Given the description of an element on the screen output the (x, y) to click on. 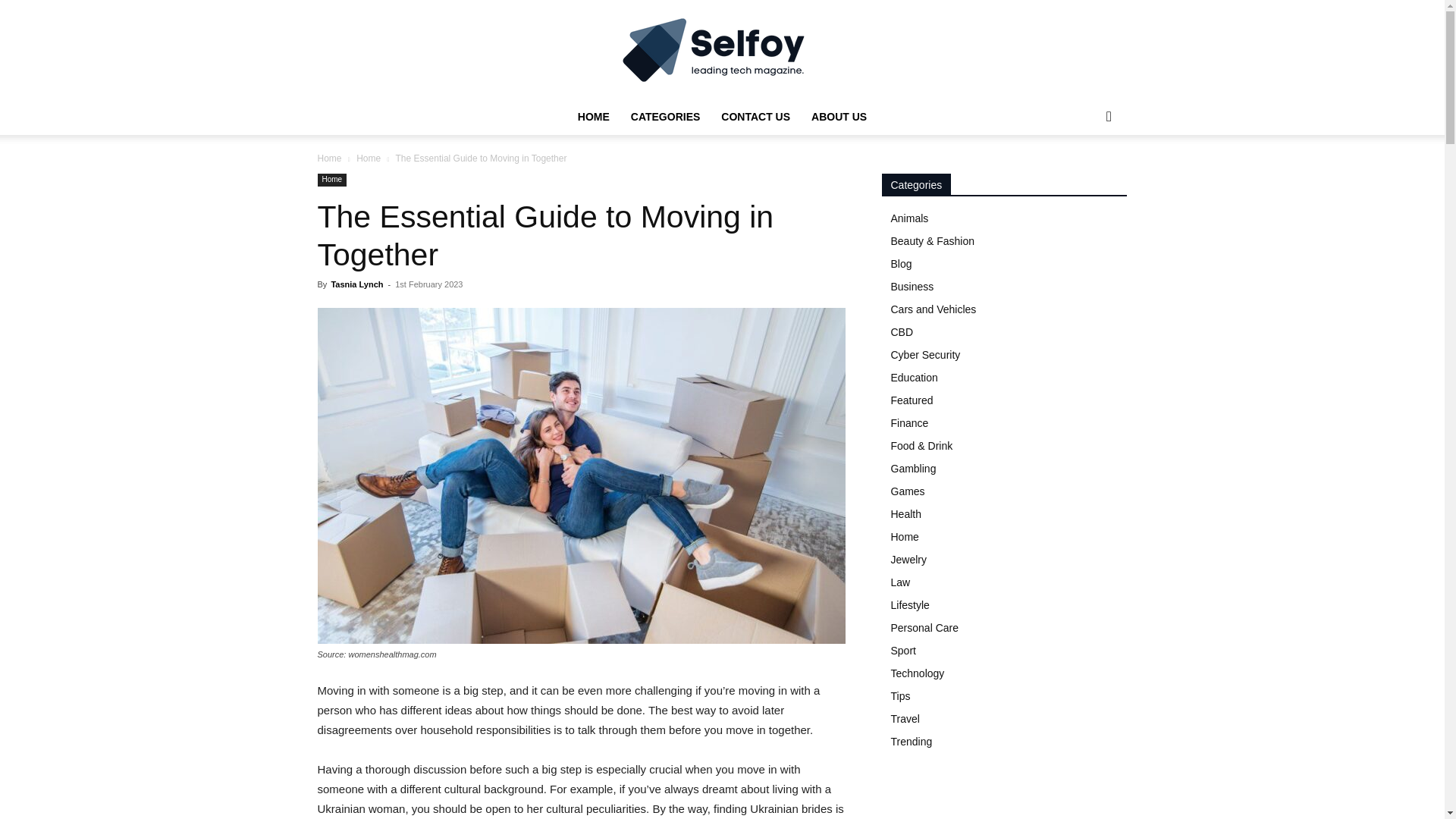
Home (328, 158)
CONTACT US (755, 116)
CATEGORIES (665, 116)
ABOUT US (838, 116)
Home (368, 158)
Search (1085, 177)
HOME (593, 116)
View all posts in Home (368, 158)
Home (331, 179)
